Given the description of an element on the screen output the (x, y) to click on. 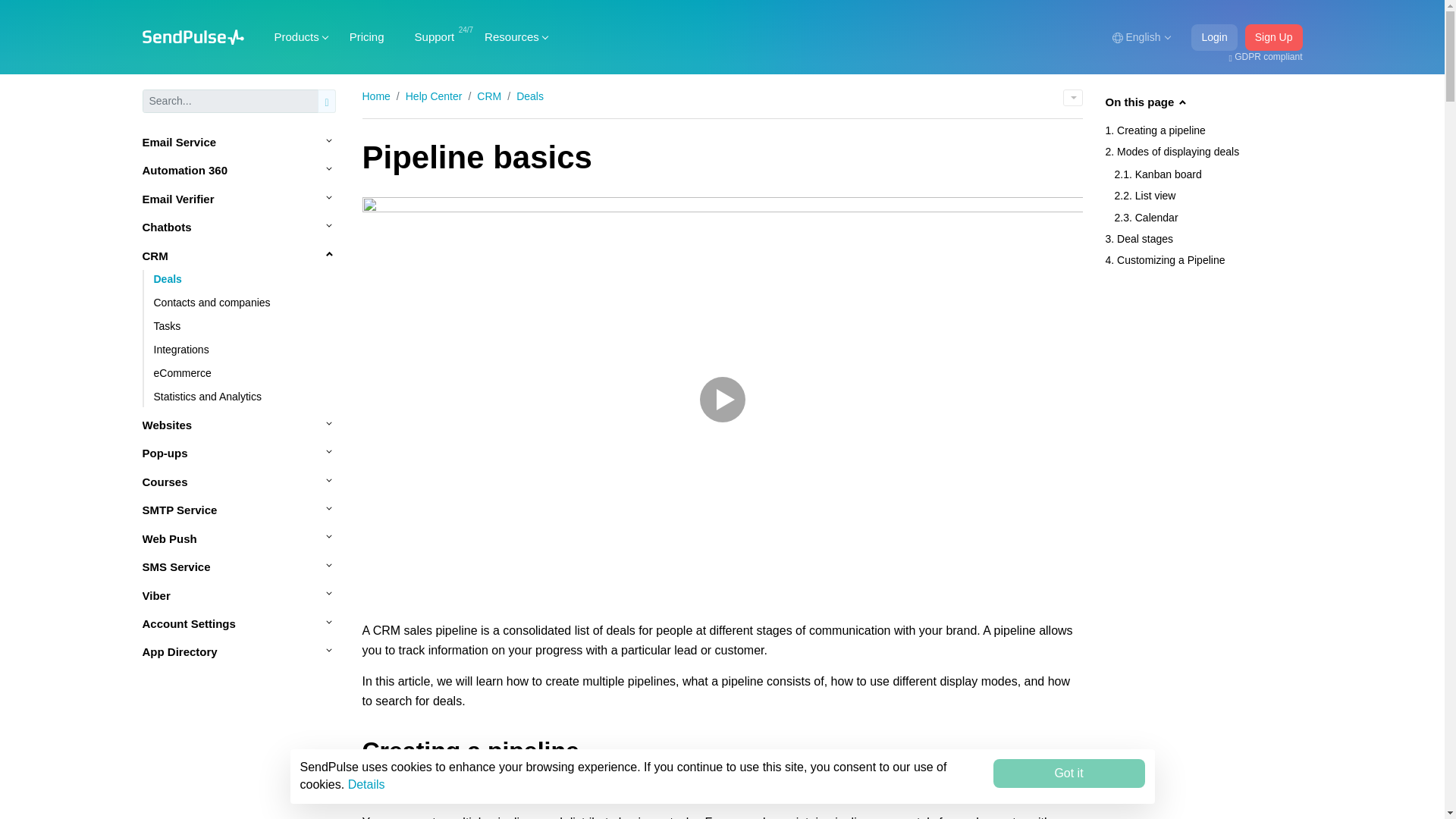
Resources (511, 36)
Products (296, 36)
English (1140, 37)
English (1140, 37)
Support (434, 36)
Pricing (366, 36)
